Given the description of an element on the screen output the (x, y) to click on. 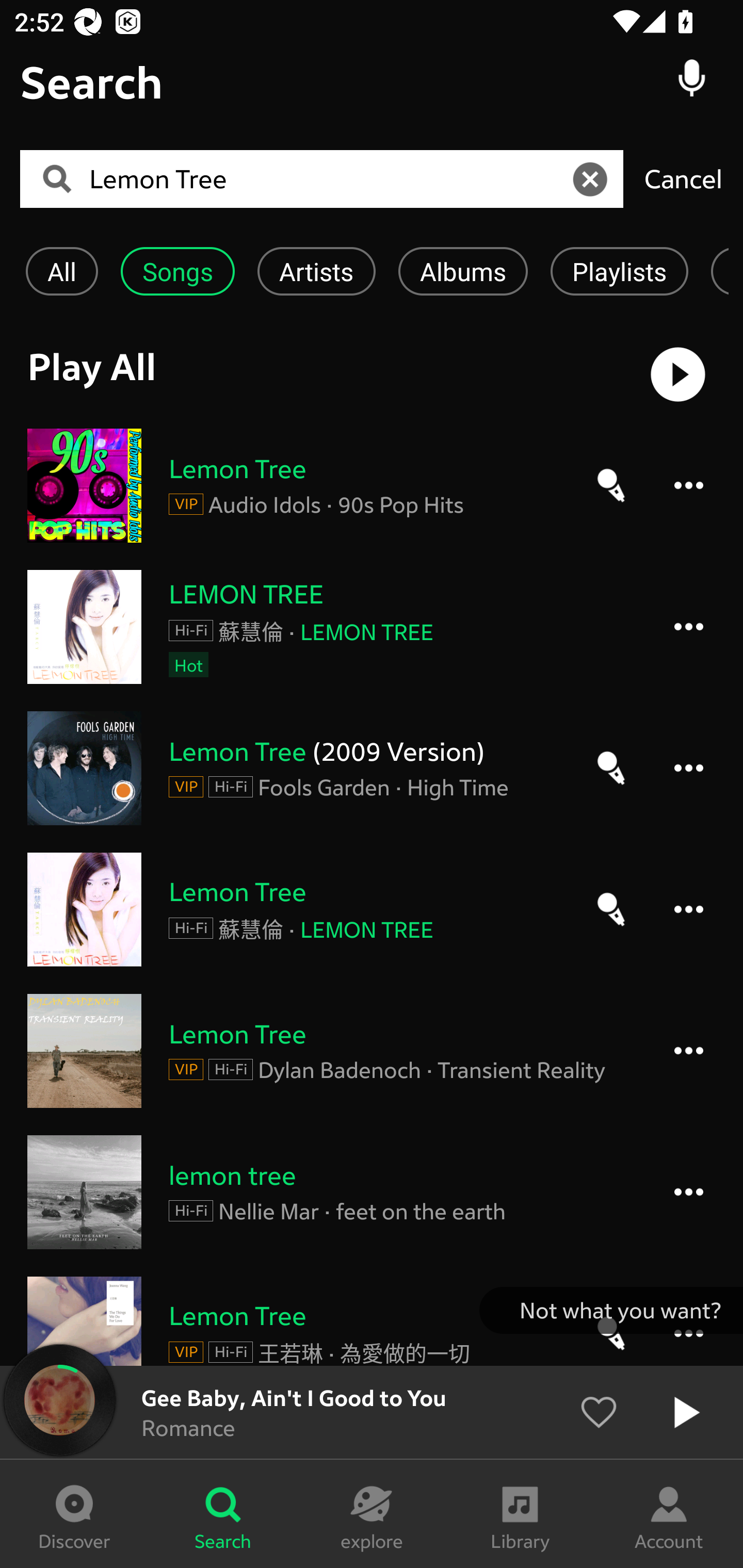
Cancel (683, 178)
Lemon Tree (327, 179)
All (61, 271)
Artists (316, 271)
Albums (463, 271)
Playlists (619, 271)
Play All (371, 374)
Lemon Tree VIP Audio Idols · 90s Pop Hits (371, 485)
LEMON TREE Hi-Fi 蘇慧倫 · LEMON TREE Hot (371, 626)
Lemon Tree Hi-Fi 蘇慧倫 · LEMON TREE (371, 908)
lemon tree Hi-Fi Nellie Mar · feet on the earth (371, 1192)
Lemon Tree VIP Hi-Fi 王若琳 · 為愛做的一切 (371, 1320)
Gee Baby, Ain't I Good to You Romance (371, 1412)
Discover (74, 1513)
explore (371, 1513)
Library (519, 1513)
Account (668, 1513)
